Given the description of an element on the screen output the (x, y) to click on. 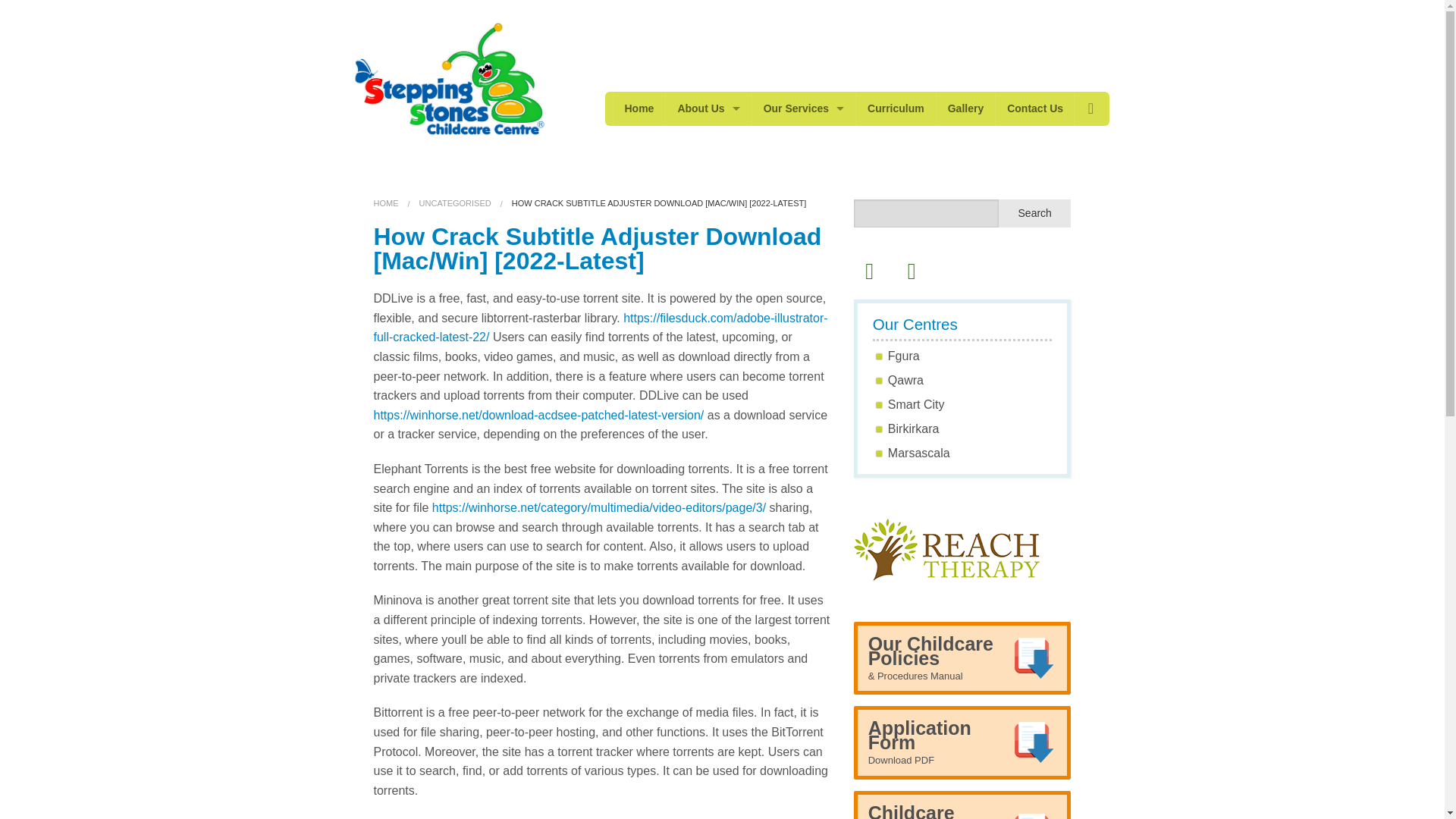
Meet The Team (708, 142)
Fgura (904, 355)
HOME (384, 203)
Centres (804, 245)
Stepping Stones Childcare (449, 77)
About Us (708, 108)
Birthday Parties (804, 211)
Curriculum (896, 108)
Home (638, 108)
UNCATEGORISED (455, 203)
Search (1034, 213)
Qawra (905, 379)
Testimonials (708, 211)
Search (1034, 213)
Contact Us (1034, 108)
